Given the description of an element on the screen output the (x, y) to click on. 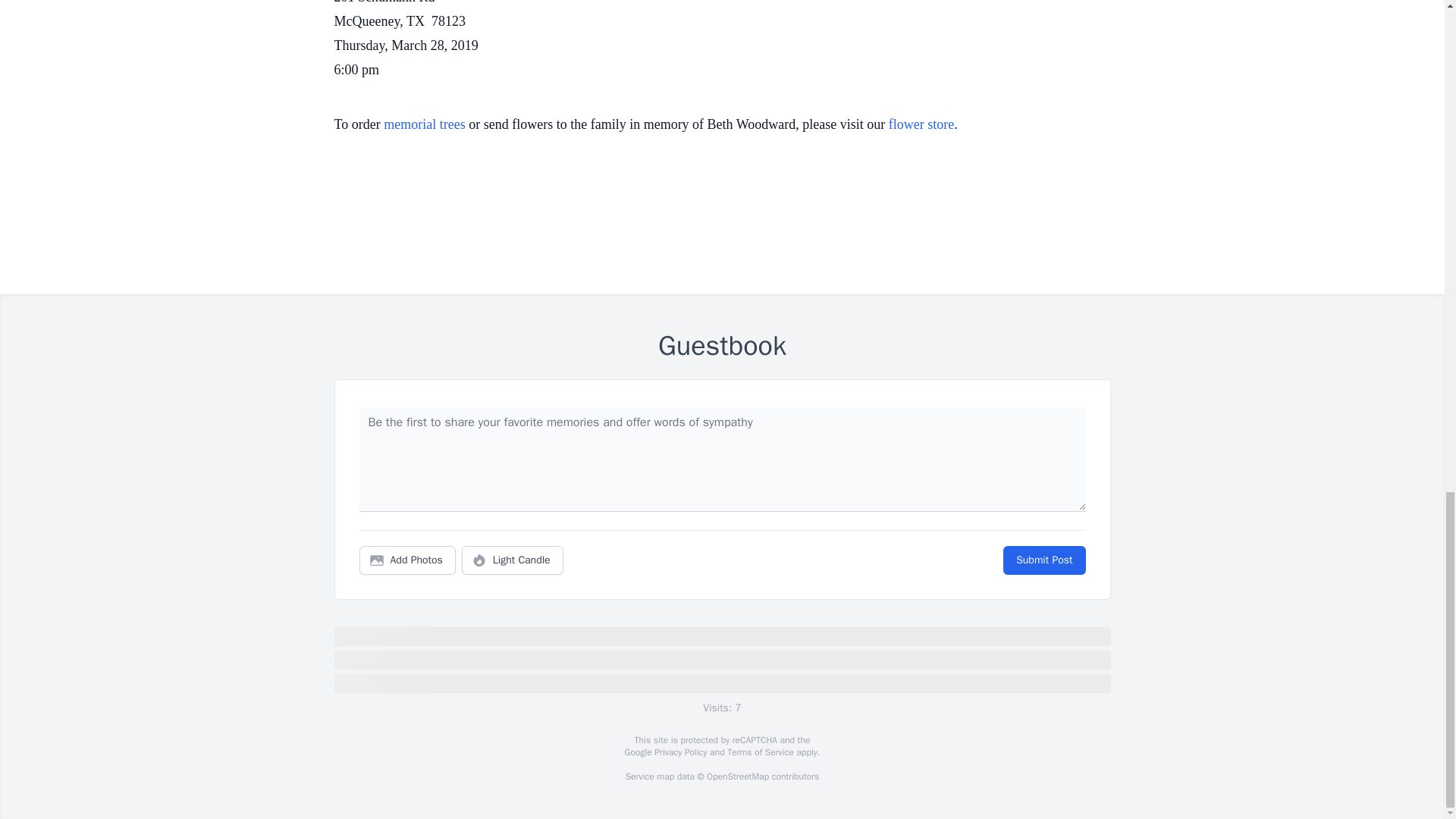
Light Candle (512, 560)
Add Photos (407, 560)
OpenStreetMap (737, 776)
Privacy Policy (679, 752)
Terms of Service (759, 752)
Submit Post (1043, 560)
flower store (920, 124)
memorial trees (424, 124)
